Given the description of an element on the screen output the (x, y) to click on. 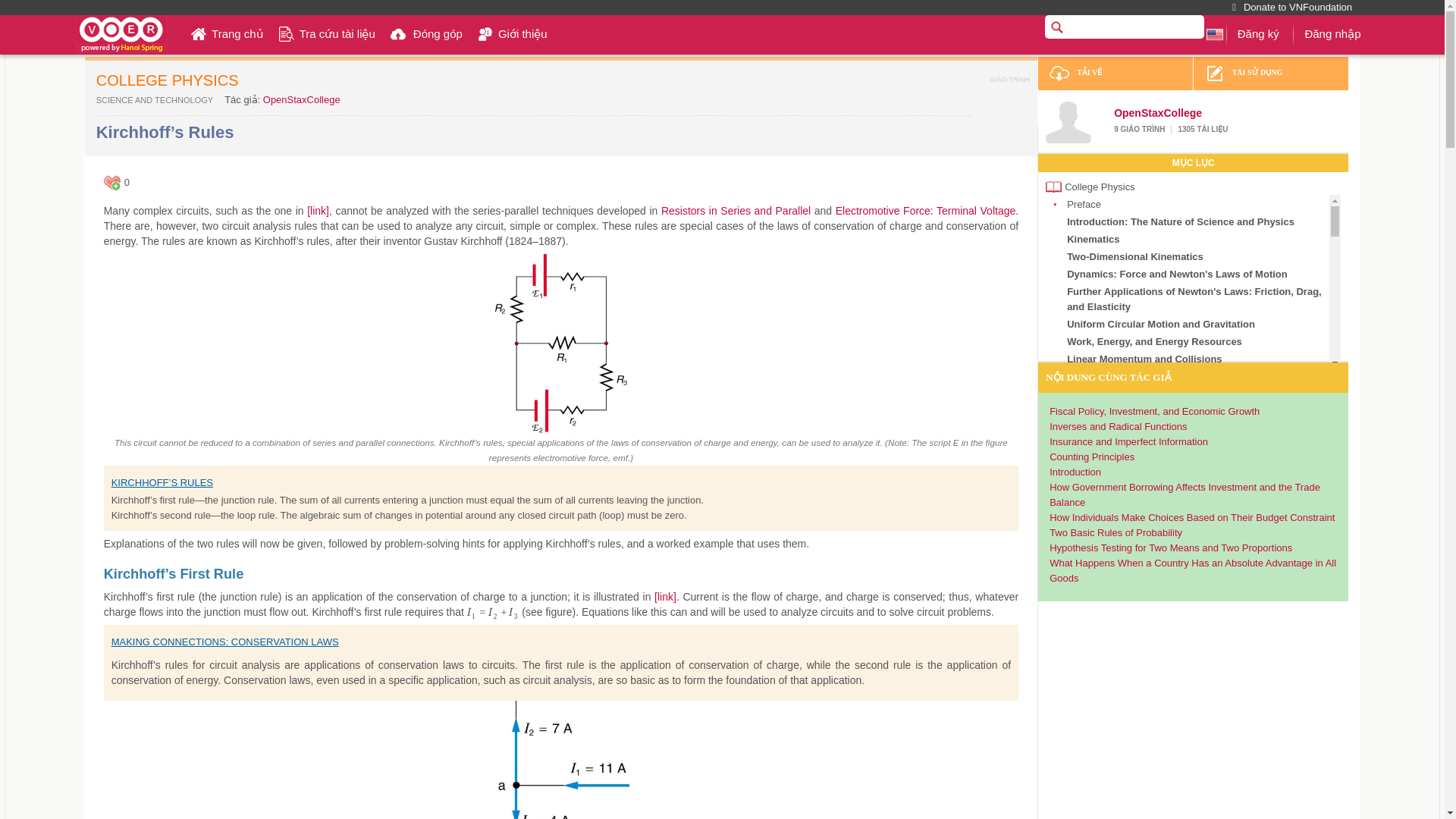
Business (154, 99)
OpenStaxCollege (1157, 112)
Electromotive Force: Terminal Voltage (925, 210)
OpenStaxCollege  (1067, 120)
SCIENCE AND TECHNOLOGY (154, 99)
OpenStaxCollege (301, 99)
Donate to VNFoundation (1291, 7)
Project name (121, 34)
Resistors in Series and Parallel (735, 210)
English (1215, 34)
